Given the description of an element on the screen output the (x, y) to click on. 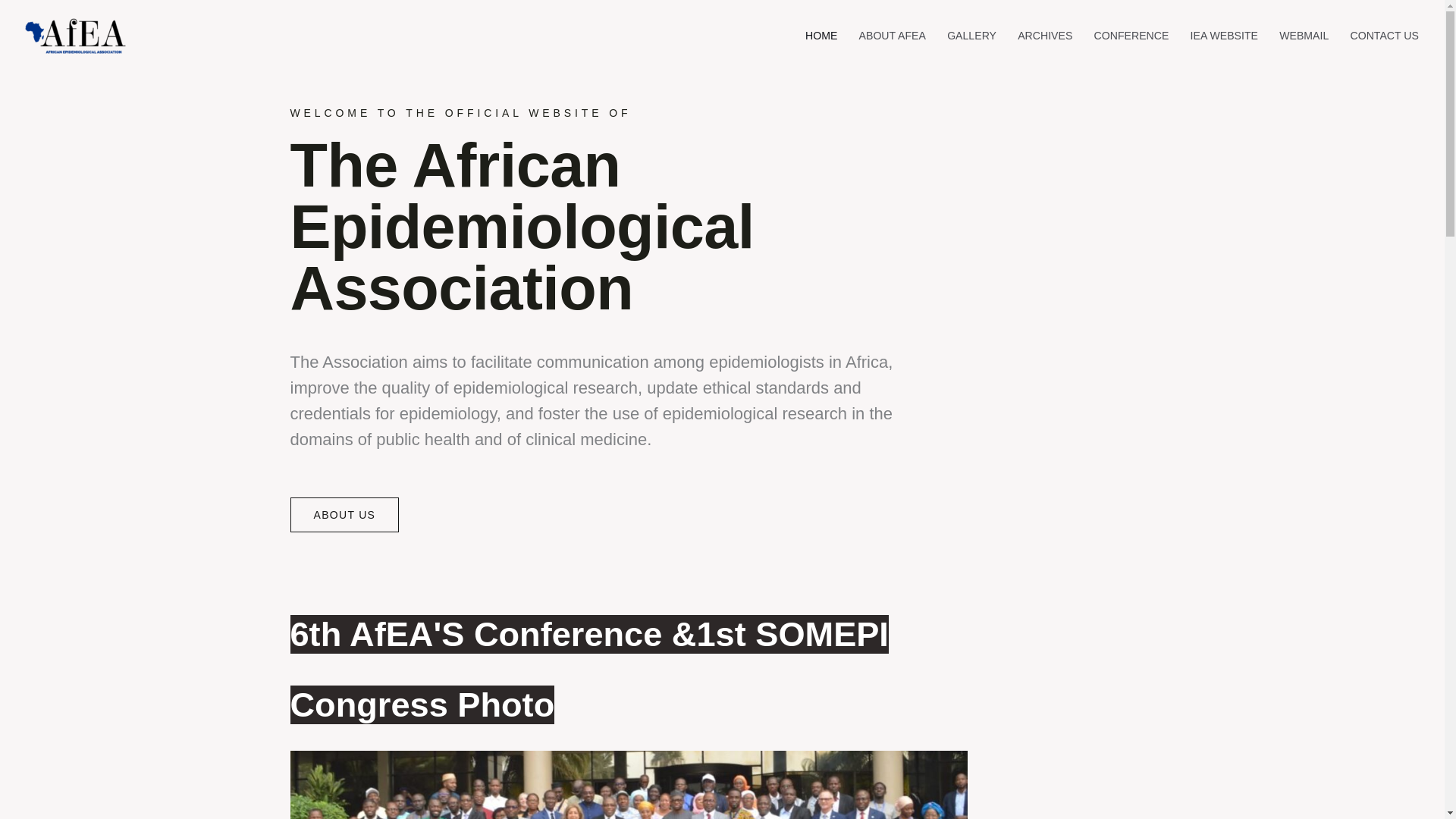
ABOUT AFEA (891, 35)
HOME (821, 35)
ARCHIVES (1045, 35)
CONTACT US (1384, 35)
ABOUT US (343, 514)
GALLERY (971, 35)
IEA WEBSITE (1223, 35)
CONFERENCE (1131, 35)
WEBMAIL (1303, 35)
